Given the description of an element on the screen output the (x, y) to click on. 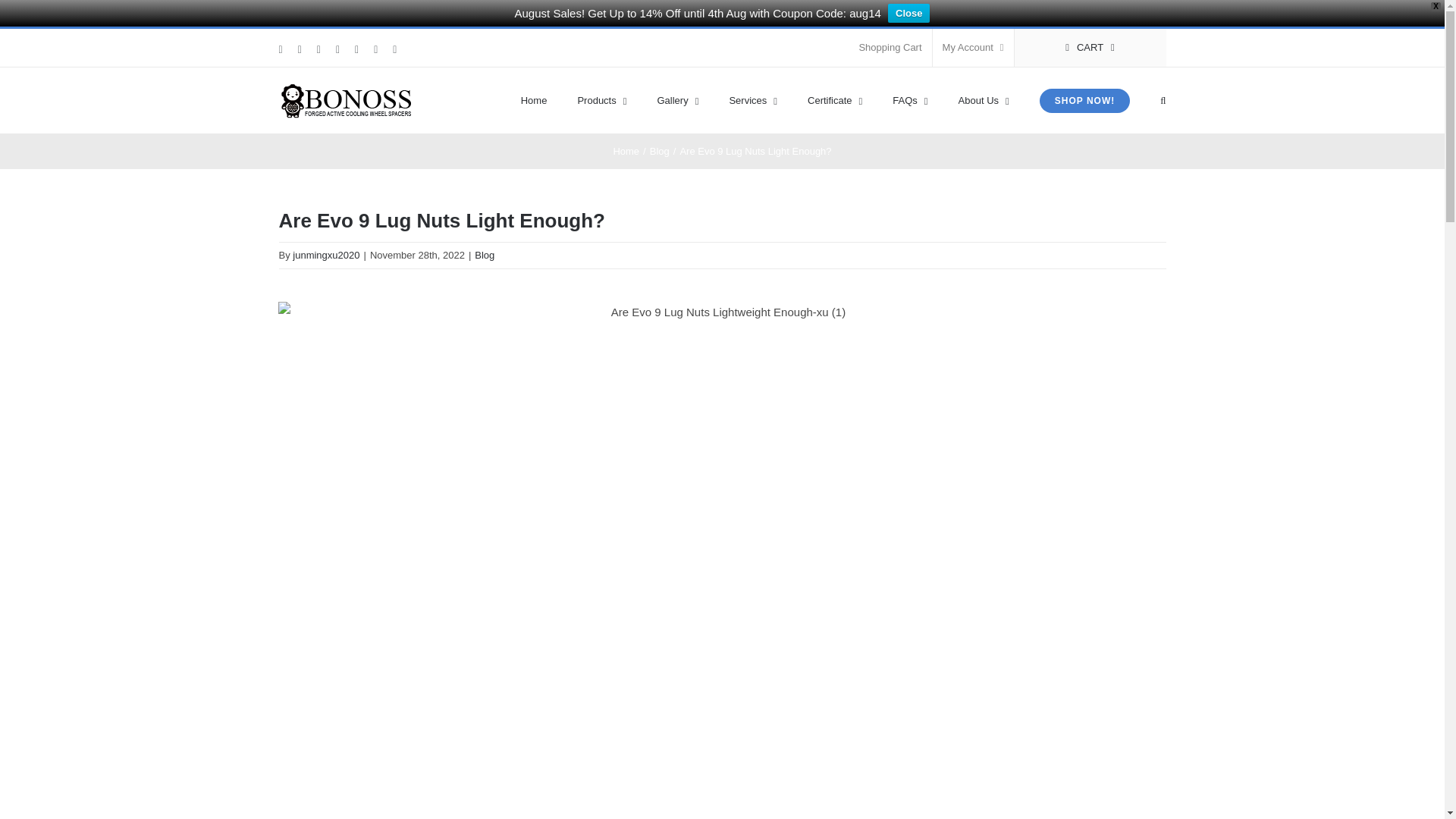
Posts by junmingxu2020 (325, 255)
Log In (1034, 191)
Shopping Cart (889, 47)
My Account (973, 47)
Close (909, 13)
CART (1090, 47)
